Given the description of an element on the screen output the (x, y) to click on. 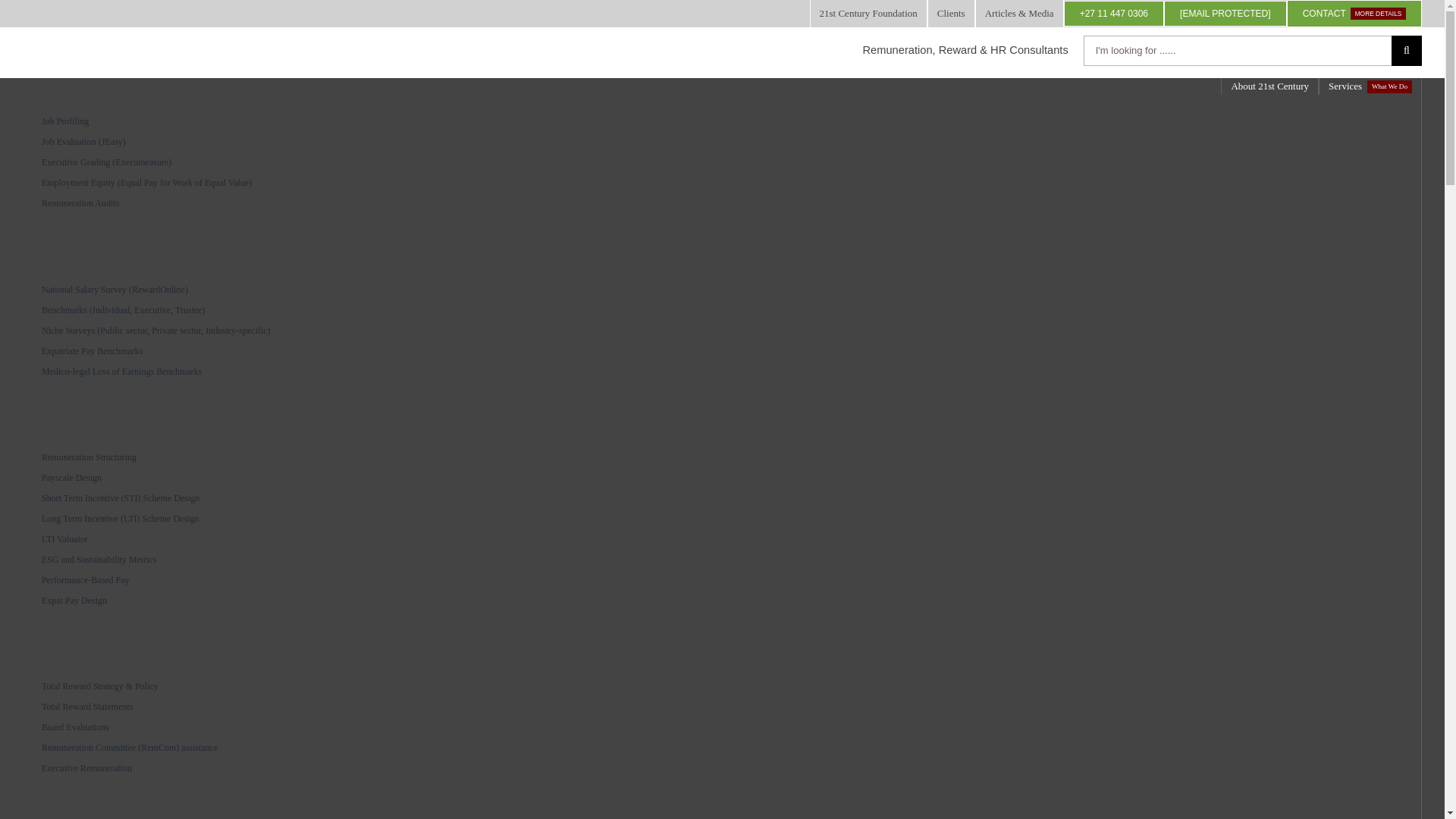
Remuneration Design: (42, 437)
Medico-legal Loss of Earnings Benchmarks (724, 371)
LTI Valuator (724, 539)
Remuneration Audits (724, 203)
Expat Pay Design (724, 600)
Expatriate Pay Benchmarks (724, 351)
21st Century Foundation (868, 13)
ESG and Sustainability Metrics (724, 559)
Performance-Based Pay (1370, 86)
